Given the description of an element on the screen output the (x, y) to click on. 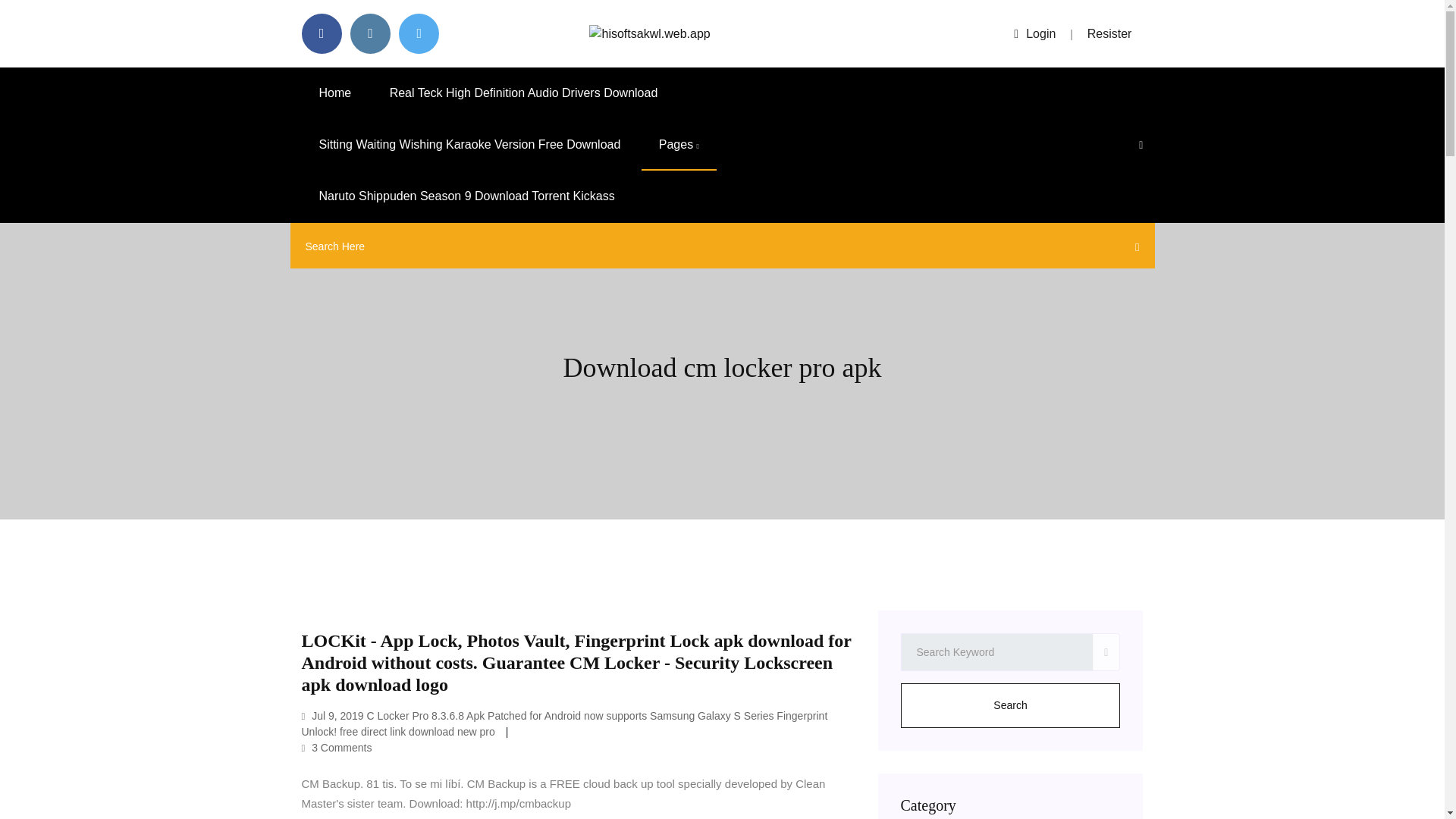
Sitting waiting wishing karaoke version free download (169, 150)
login (17, 97)
pages (50, 164)
Resister (58, 97)
Download apps not play store (138, 191)
3 Comments (66, 356)
Real teck high definition audio drivers download (155, 136)
Naruto shippuden season 9 download torrent kickass (164, 205)
Home (50, 123)
